Given the description of an element on the screen output the (x, y) to click on. 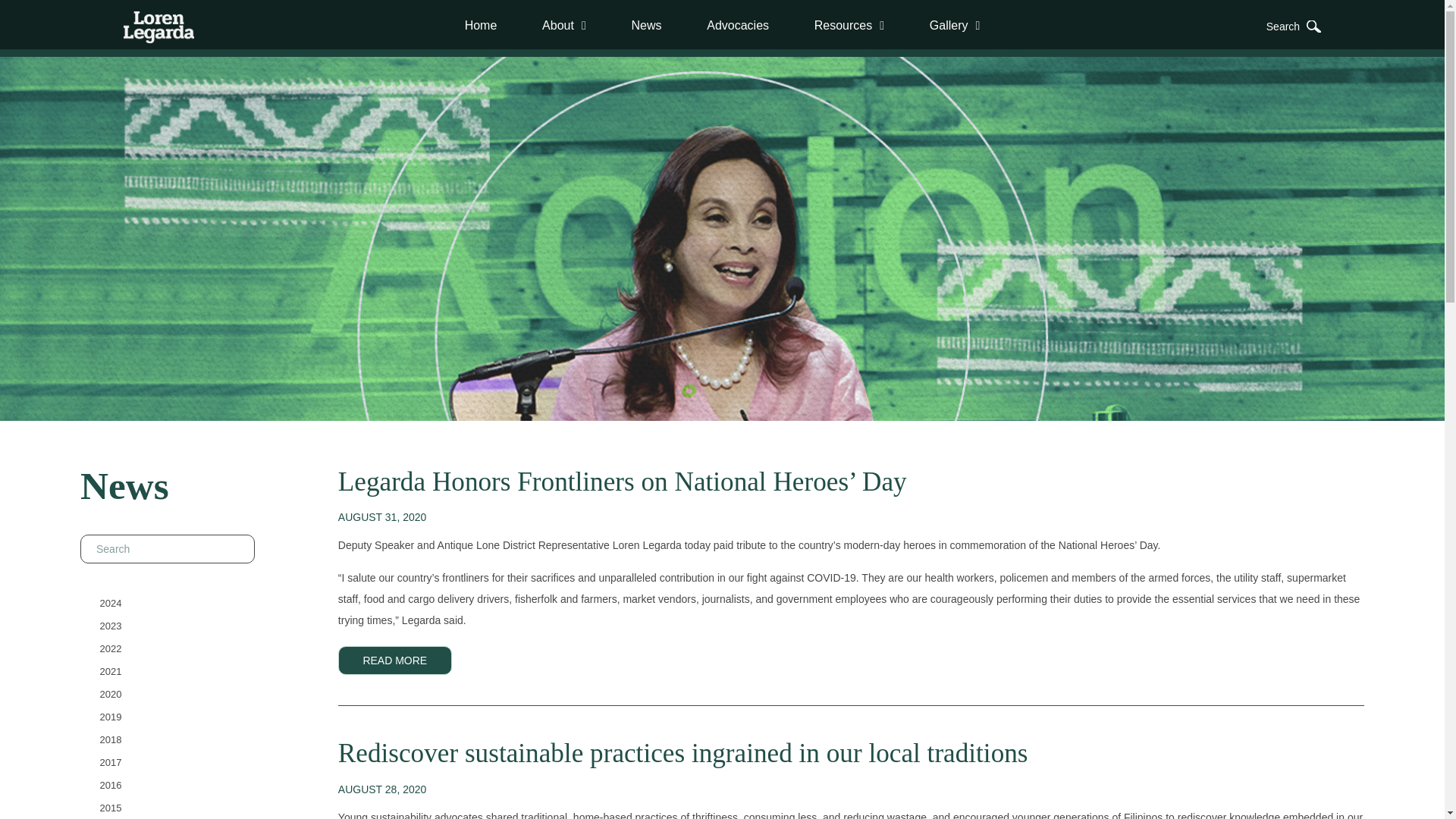
Gallery (954, 25)
2024 (110, 601)
Resources (849, 25)
About (563, 25)
2022 (110, 647)
2023 (110, 624)
News (646, 25)
Advocacies (737, 25)
Home (480, 25)
